Given the description of an element on the screen output the (x, y) to click on. 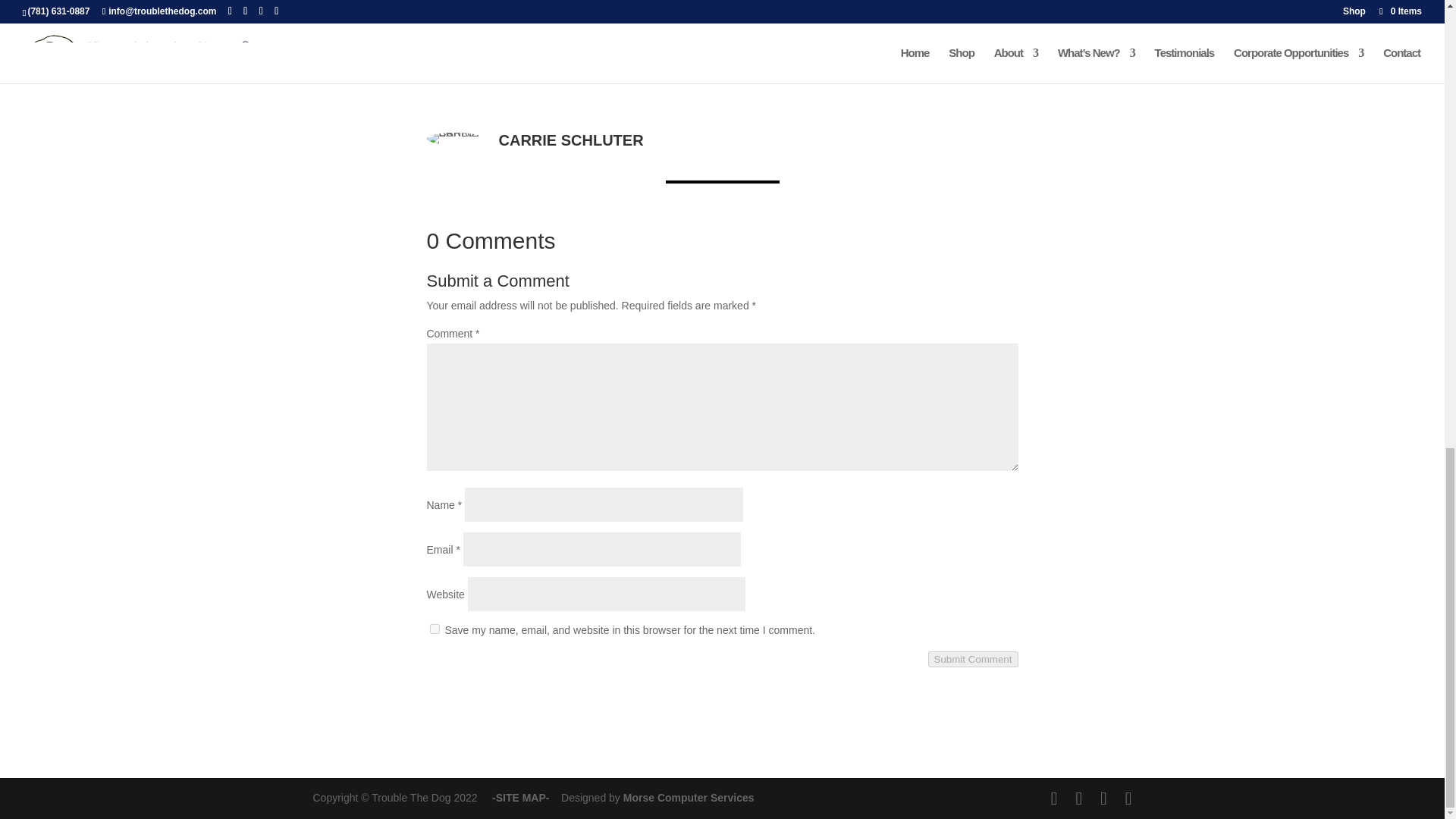
Submit Comment (972, 659)
Click to share on X (447, 37)
yes (434, 628)
X (447, 37)
